Given the description of an element on the screen output the (x, y) to click on. 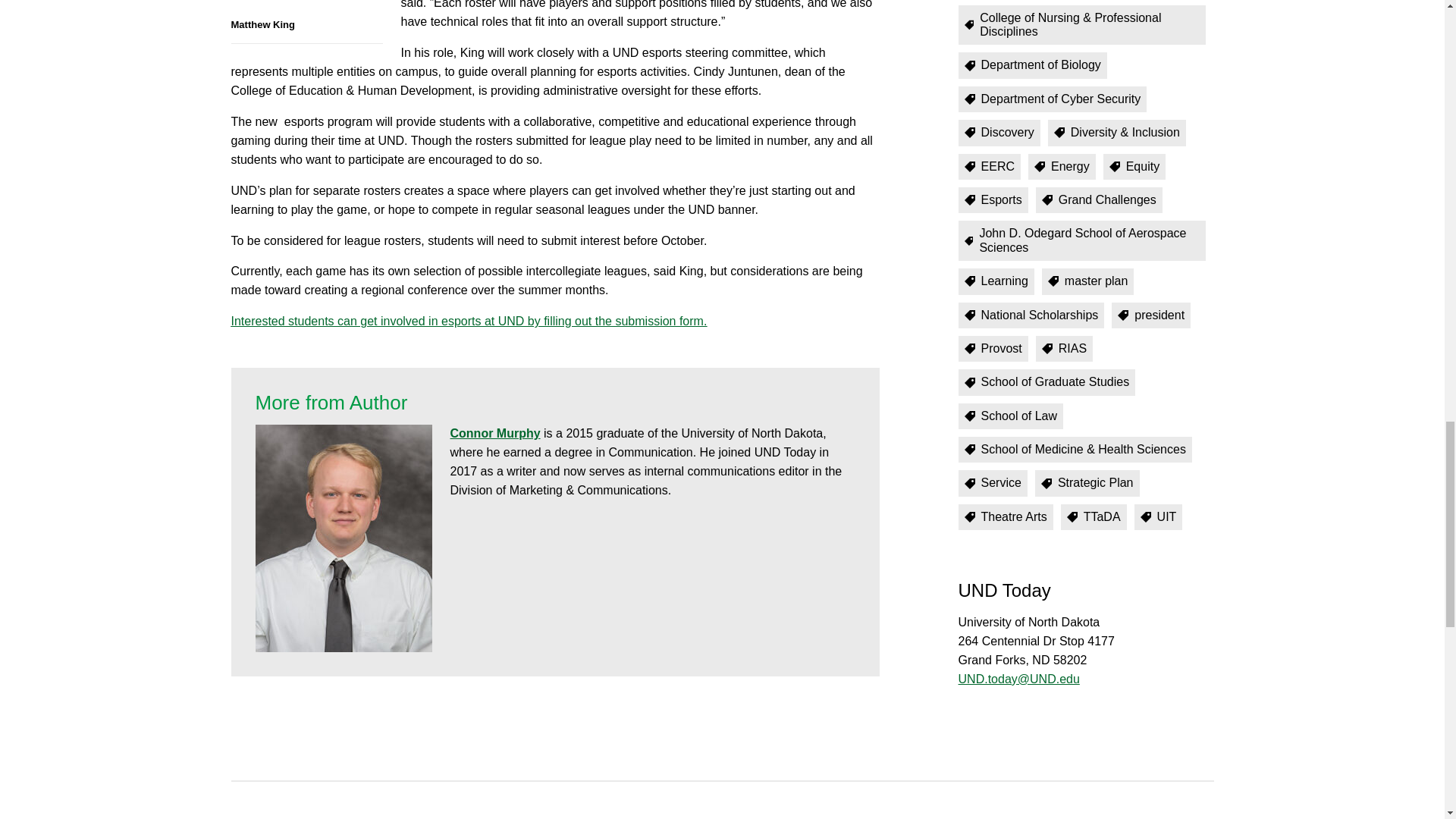
Connor Murphy (494, 432)
Discovery tag (999, 132)
Department of Cyber Security tag (1052, 99)
Department of Biology tag (1032, 64)
